Given the description of an element on the screen output the (x, y) to click on. 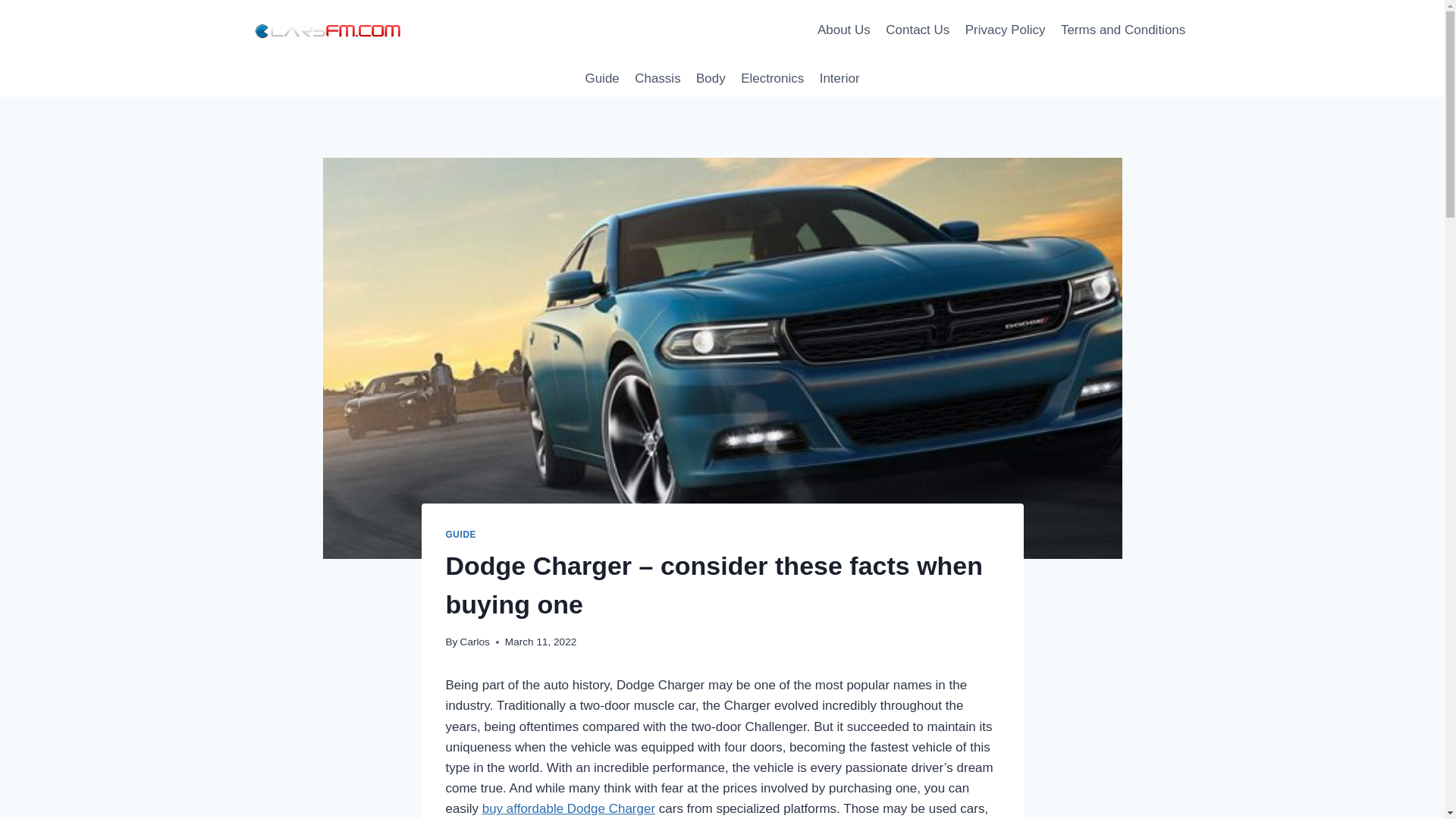
buy affordable Dodge Charger (568, 808)
Contact Us (916, 30)
Chassis (657, 78)
Carlos (474, 641)
Electronics (772, 78)
Privacy Policy (1005, 30)
Interior (838, 78)
Terms and Conditions (1122, 30)
About Us (843, 30)
Guide (601, 78)
